Given the description of an element on the screen output the (x, y) to click on. 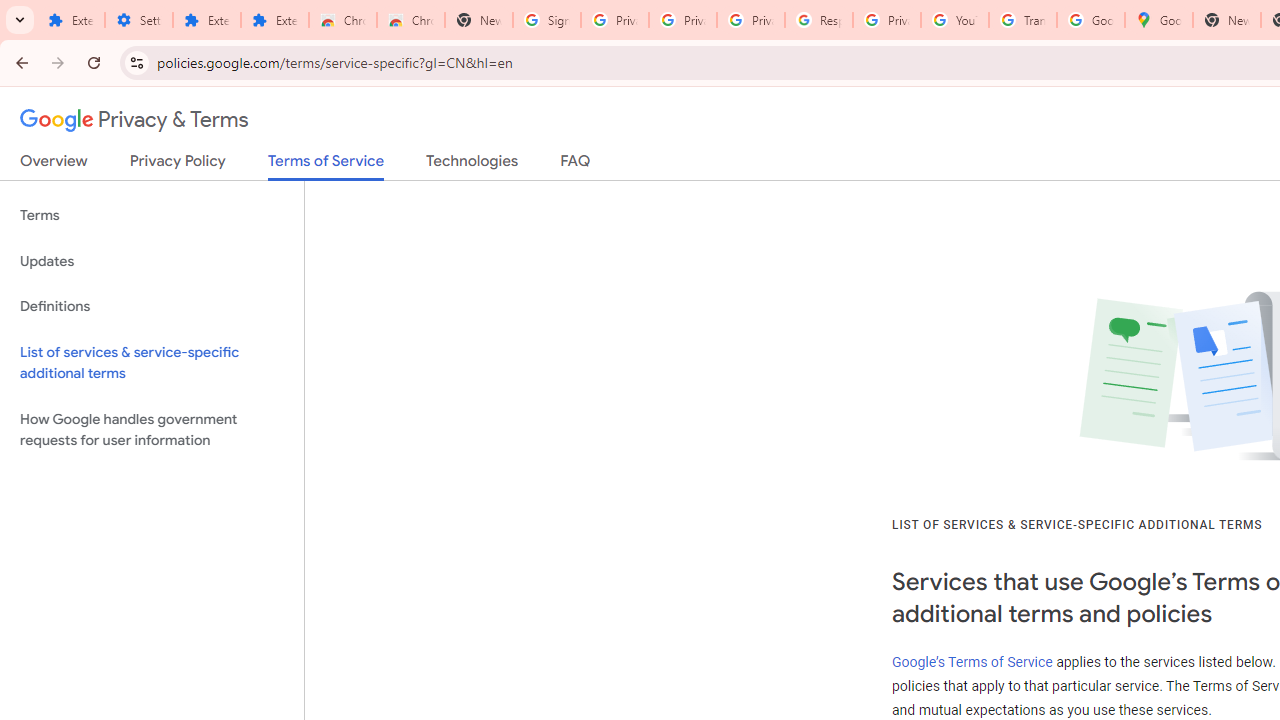
How Google handles government requests for user information (152, 429)
